Given the description of an element on the screen output the (x, y) to click on. 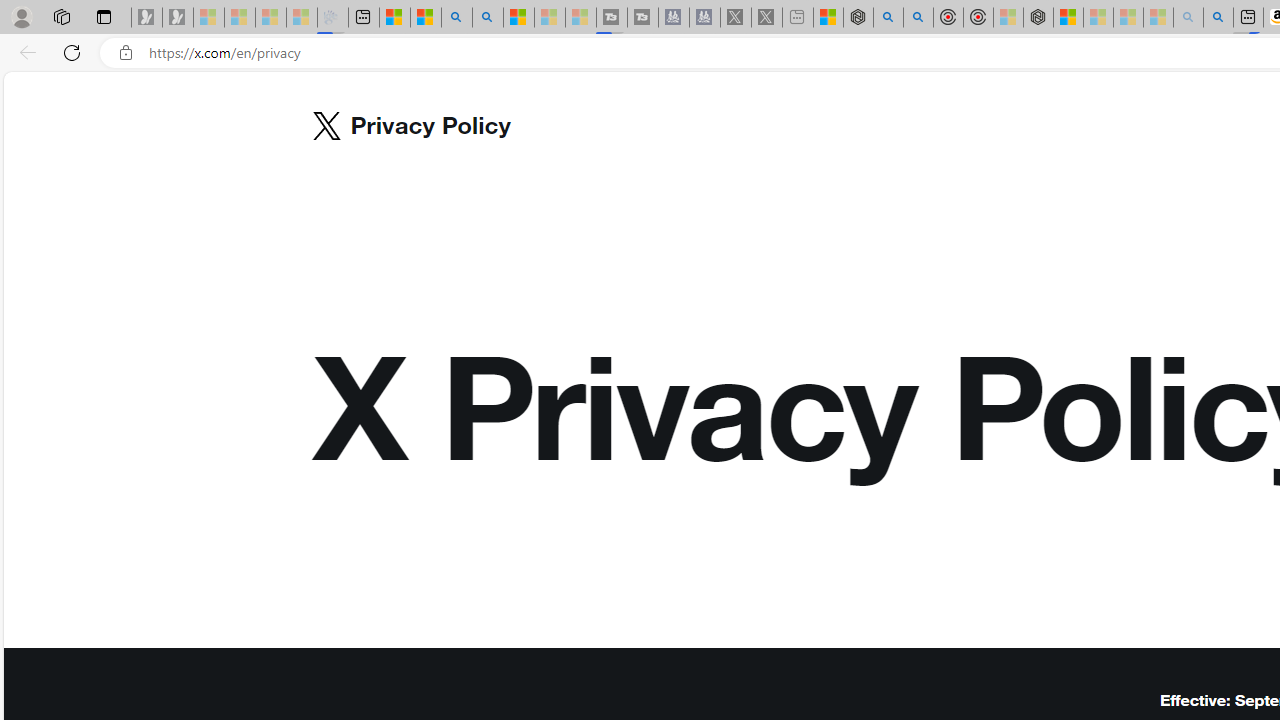
Newsletter Sign Up - Sleeping (177, 17)
New split screen (1248, 17)
poe ++ standard - Search (918, 17)
Refresh (72, 52)
New tab - Sleeping (797, 17)
Microsoft Start - Sleeping (549, 17)
Nordace - Nordace Siena Is Not An Ordinary Backpack (1038, 17)
Personal Profile (21, 16)
Amazon Echo Dot PNG - Search Images (1218, 17)
